Given the description of an element on the screen output the (x, y) to click on. 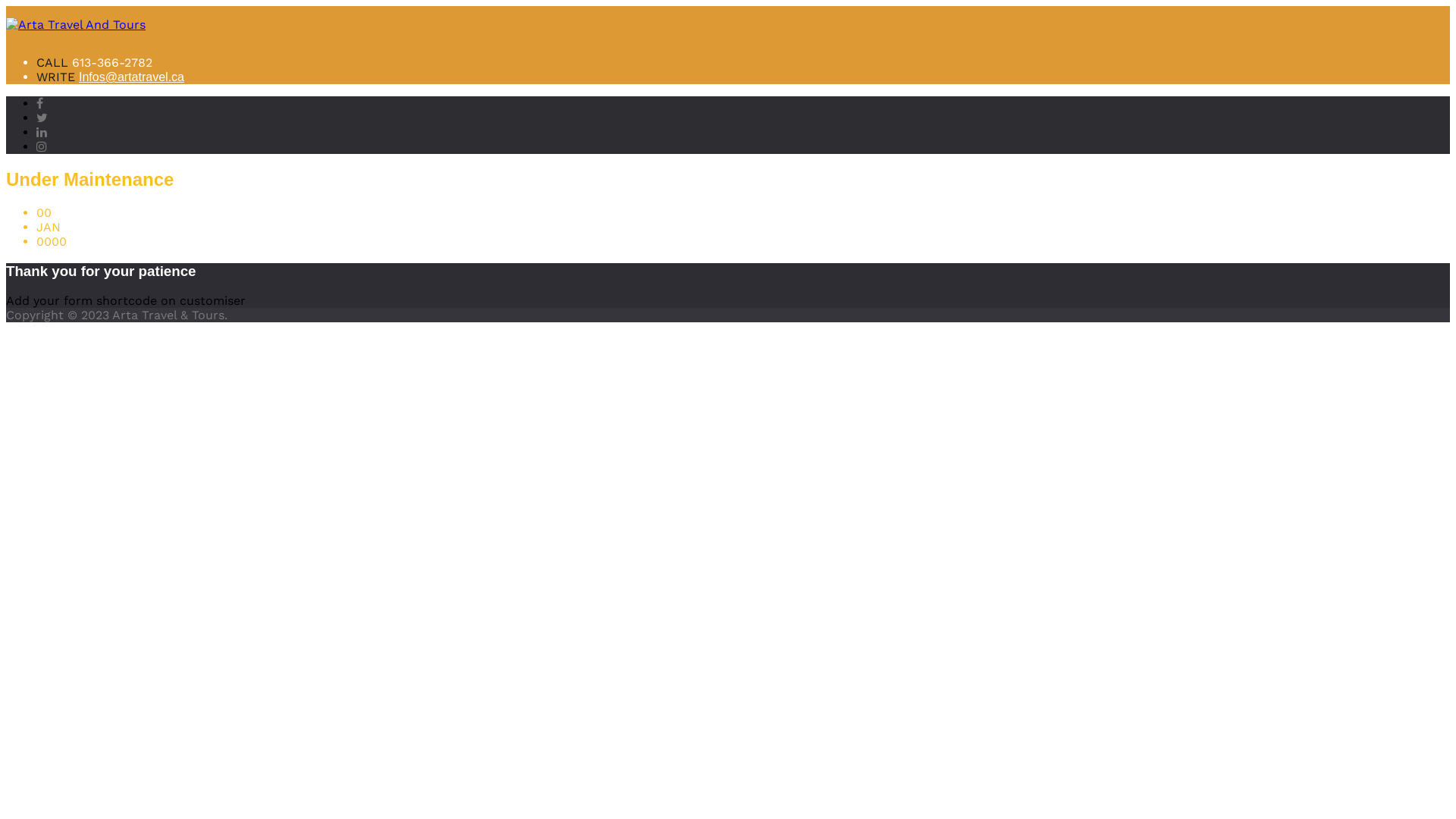
Infos@artatravel.ca Element type: text (131, 76)
Skip to content Element type: text (5, 5)
Twitter Element type: hover (41, 117)
Facebook Element type: hover (39, 103)
Instagram Element type: hover (41, 146)
Linked In Element type: hover (41, 132)
